Given the description of an element on the screen output the (x, y) to click on. 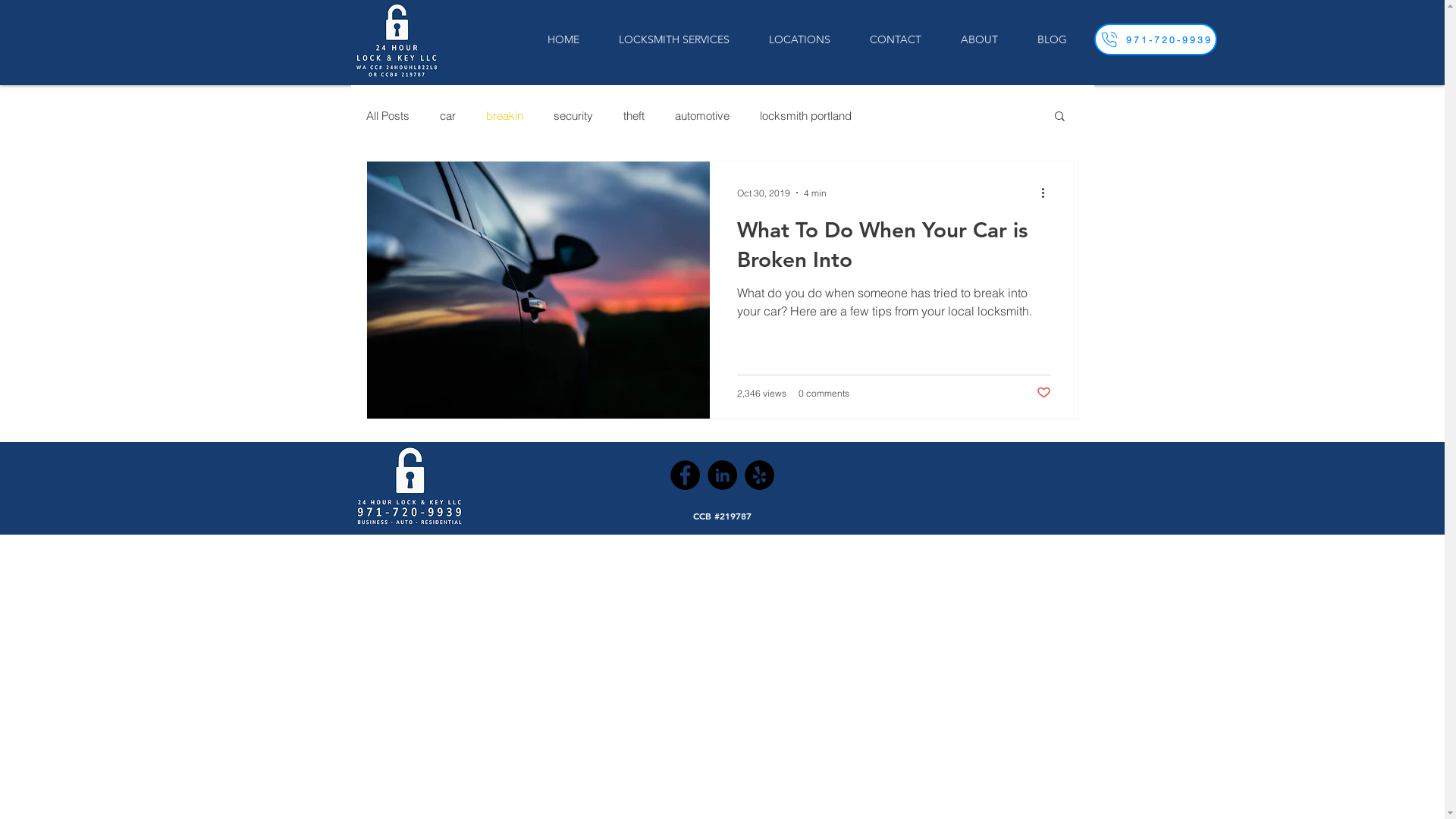
Post not marked as liked Element type: text (1042, 393)
car Element type: text (447, 114)
BLOG Element type: text (1051, 39)
All Posts Element type: text (386, 114)
CONTACT Element type: text (894, 39)
971-720-9939 Element type: text (1154, 39)
0 comments Element type: text (822, 392)
automotive Element type: text (701, 114)
theft Element type: text (633, 114)
breakin Element type: text (503, 114)
ABOUT Element type: text (978, 39)
24 Hour Lock & Key Logo.jpg Element type: hover (408, 486)
locksmith portland Element type: text (805, 114)
LOCATIONS Element type: text (799, 39)
LOCKSMITH SERVICES Element type: text (674, 39)
security Element type: text (573, 114)
What To Do When Your Car is Broken Into Element type: text (894, 248)
HOME Element type: text (563, 39)
